Given the description of an element on the screen output the (x, y) to click on. 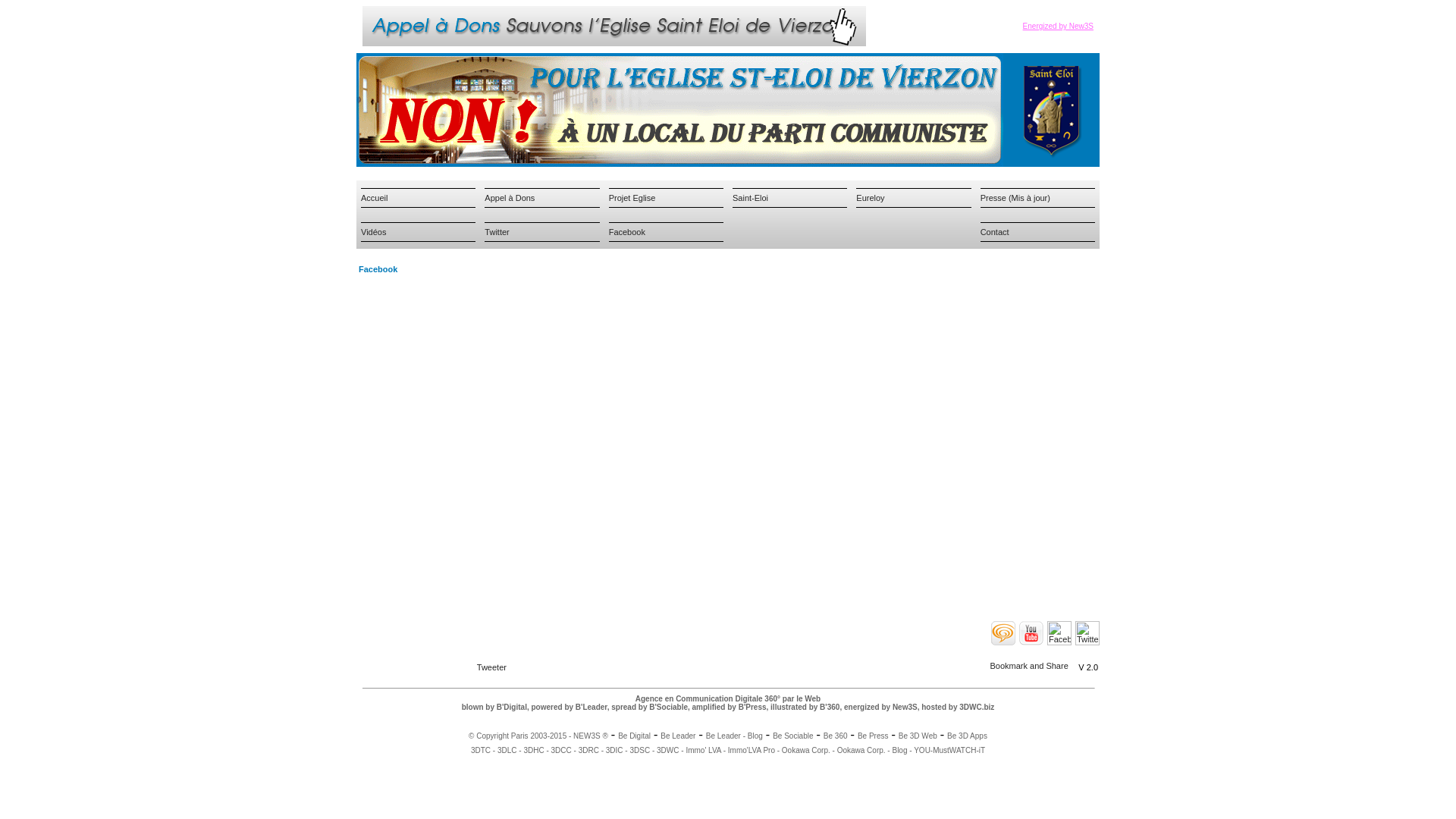
Twitter Element type: hover (1087, 633)
OverBlog Element type: hover (1003, 633)
Contact Element type: text (994, 231)
Projet Eglise Element type: text (631, 196)
Saint-Eloi Element type: text (750, 196)
Accueil Element type: text (373, 196)
Eureloy Element type: text (870, 196)
Twitter Element type: text (496, 231)
Tweeter Element type: text (491, 666)
Facebook Element type: text (626, 231)
Facebook Element type: hover (1059, 633)
Youtube Element type: hover (1031, 633)
